Given the description of an element on the screen output the (x, y) to click on. 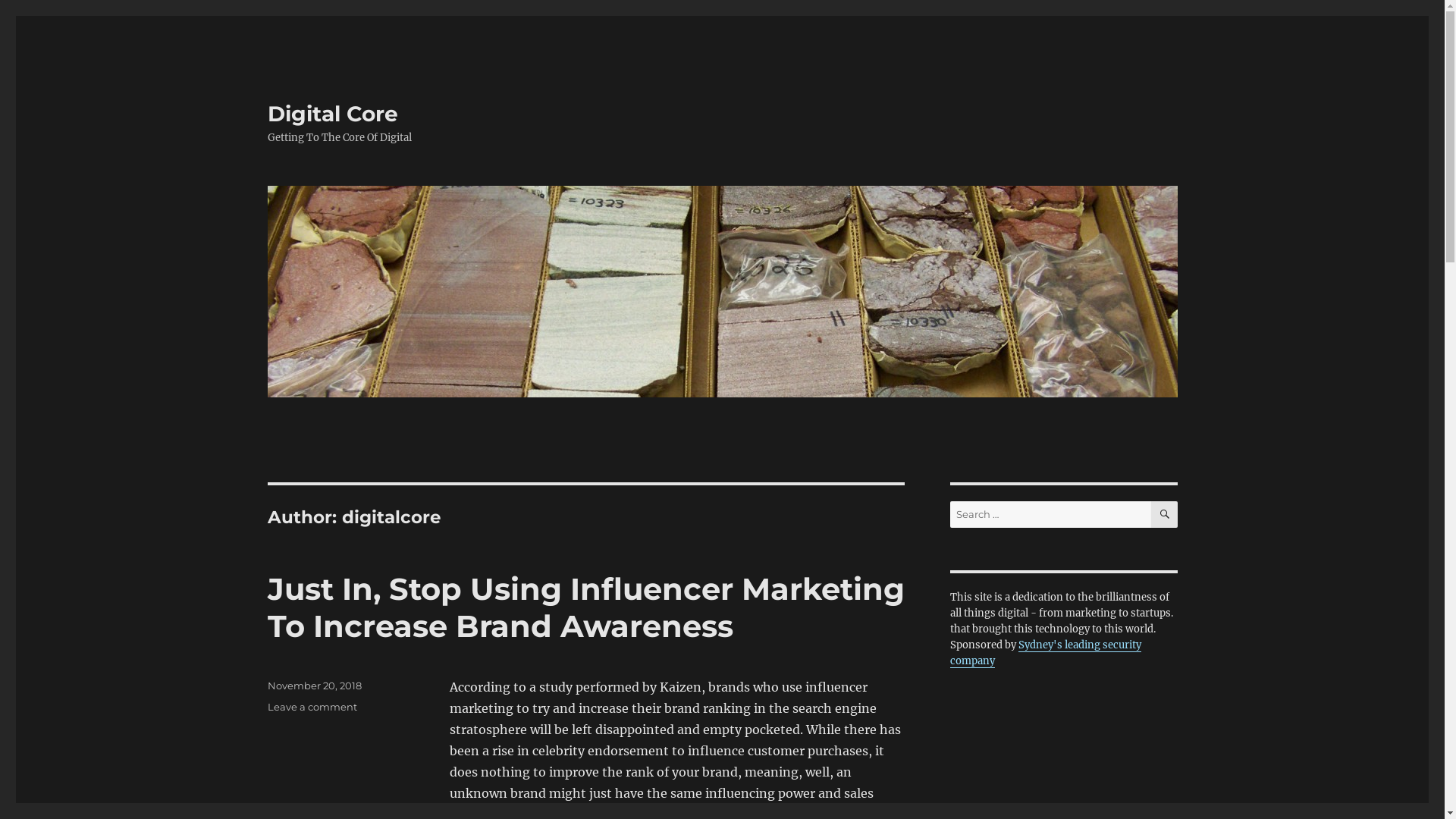
Digital Core Element type: text (331, 113)
Search for: Element type: hover (1049, 514)
November 20, 2018 Element type: text (313, 685)
SEARCH Element type: text (1164, 514)
Sydney's leading security company Element type: text (1044, 652)
